Given the description of an element on the screen output the (x, y) to click on. 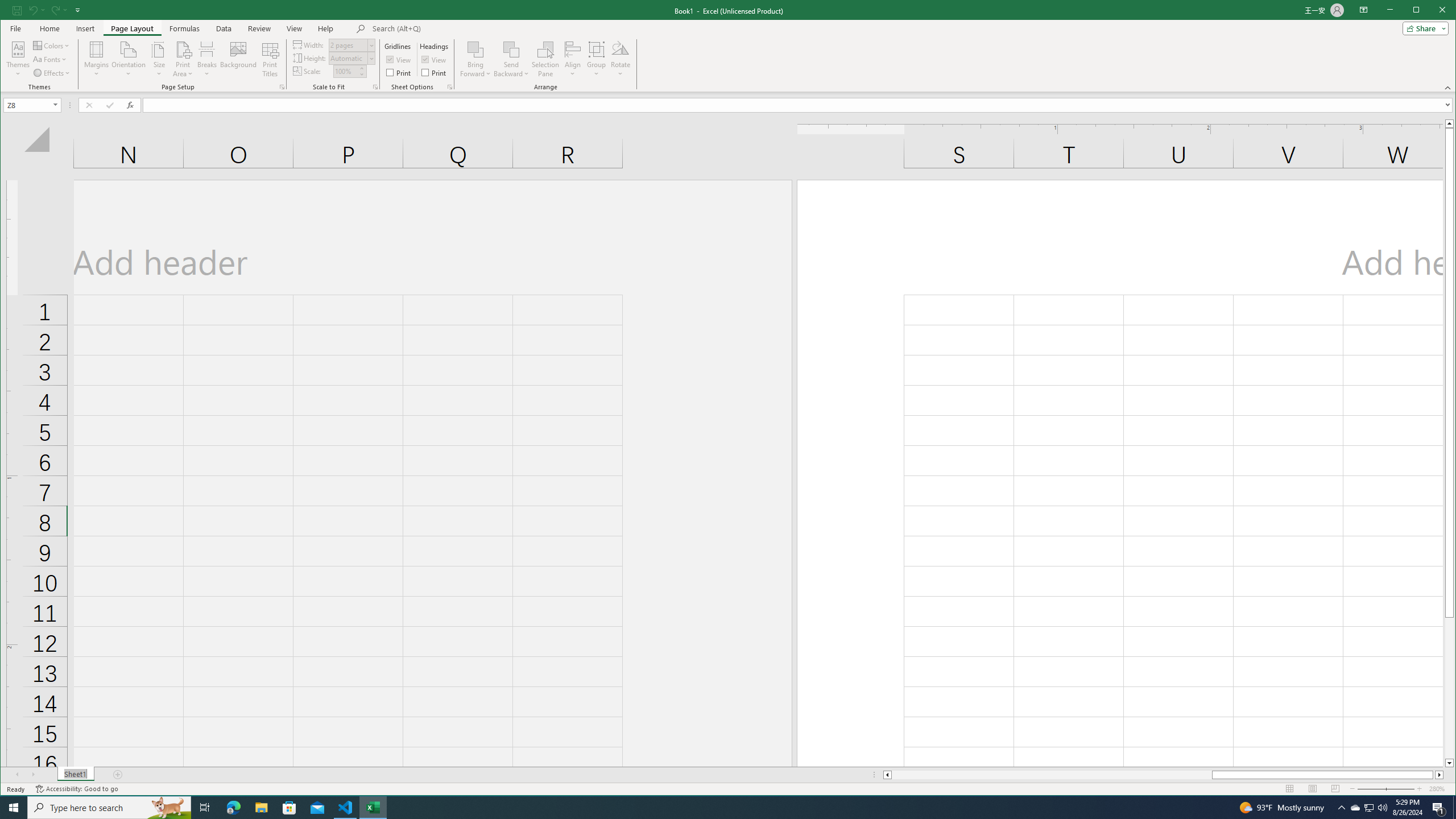
Scale (344, 71)
Send Backward (510, 59)
Print (434, 72)
Colors (51, 45)
